Given the description of an element on the screen output the (x, y) to click on. 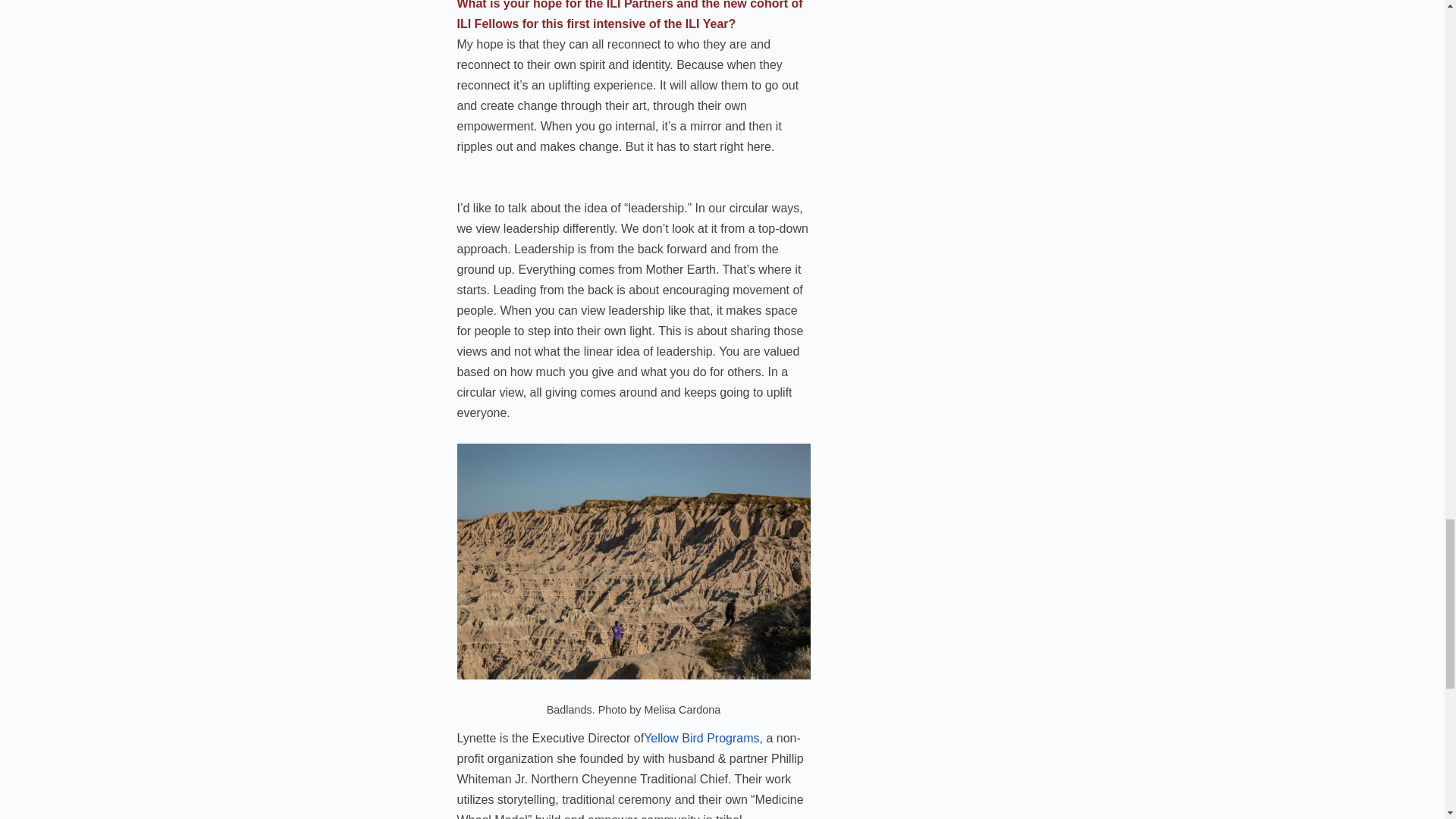
Yellow Bird Programs (700, 738)
